Given the description of an element on the screen output the (x, y) to click on. 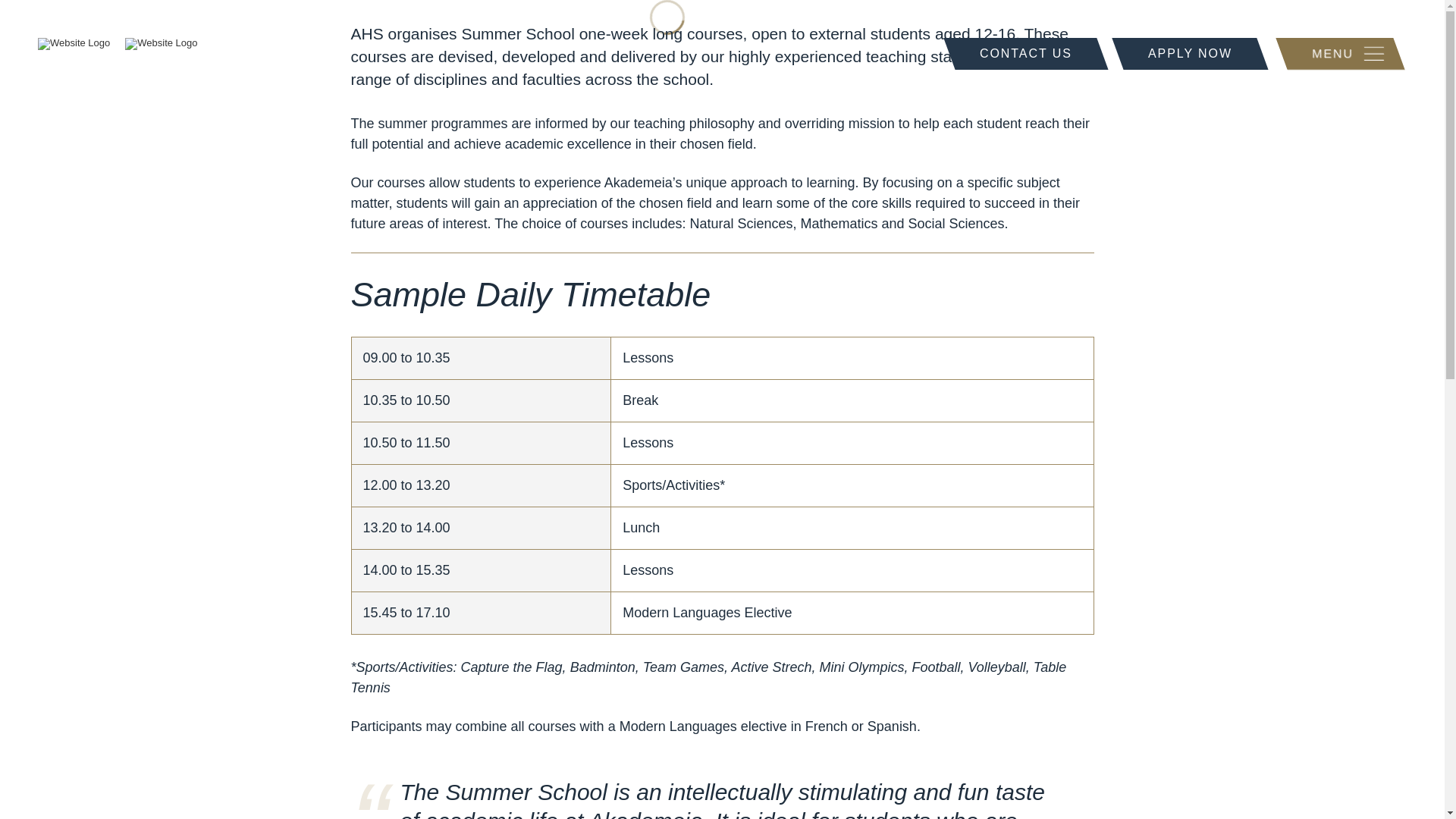
MENU (1340, 53)
APPLY NOW (1190, 53)
CONTACT US (1025, 53)
contact us (1025, 53)
apply now (1190, 53)
Akademeia High School Website (117, 43)
